Given the description of an element on the screen output the (x, y) to click on. 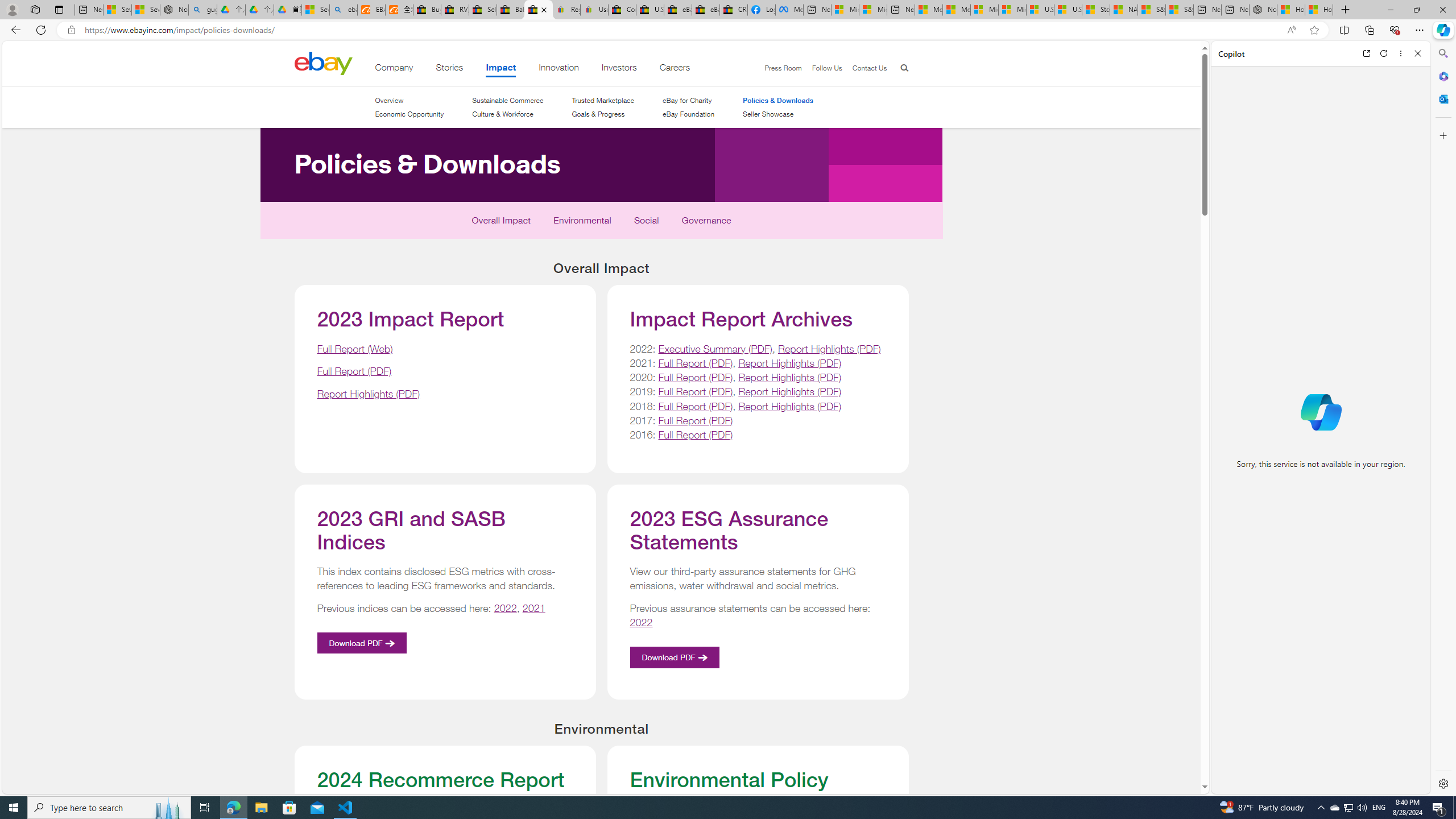
Innovation (558, 69)
Impact . This is the current section. (501, 69)
Policies & Downloads (777, 100)
eBay for Charity (686, 99)
Trusted Marketplace (603, 100)
